Given the description of an element on the screen output the (x, y) to click on. 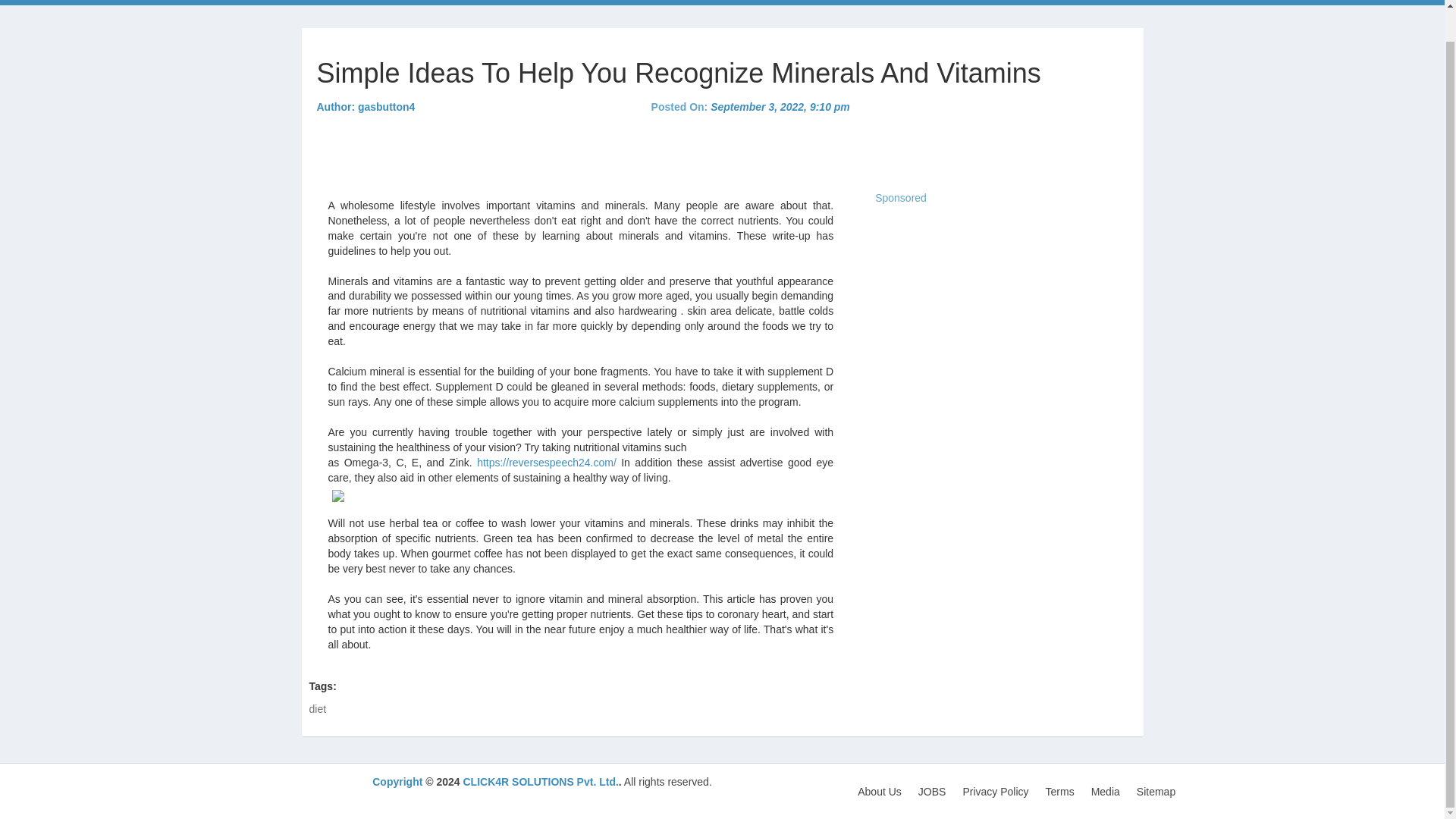
Business (496, 2)
Travel (676, 2)
Business (496, 2)
Travel (676, 2)
More (731, 2)
Click4r Solutions Pvt. Ltd. (315, 2)
JOBS (936, 790)
CLICK4R SOLUTIONS Pvt. Ltd. (540, 781)
About Us (882, 790)
Sign In (1064, 2)
Copyright (397, 781)
More (731, 2)
Latest (438, 2)
Author: gasbutton4 (365, 106)
Click4R (315, 2)
